Given the description of an element on the screen output the (x, y) to click on. 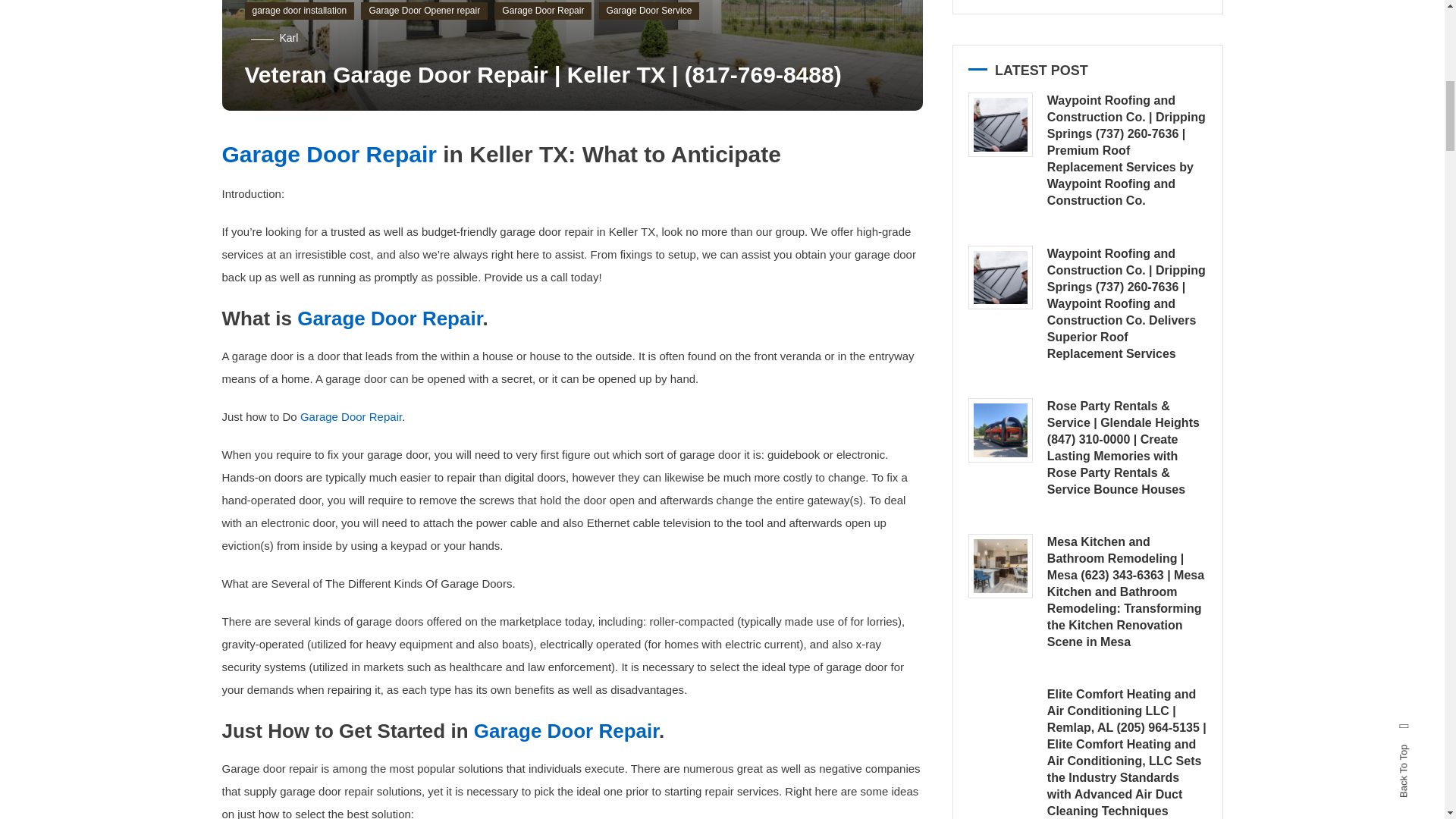
Garage Door Service (649, 11)
Garage Door Repair (543, 11)
garage door installation (298, 11)
Garage Door Opener repair (424, 11)
Garage Door Repair (328, 154)
Garage Door Repair (389, 318)
Garage Door Repair (350, 416)
Karl (288, 37)
Garage Door Repair (566, 730)
